Given the description of an element on the screen output the (x, y) to click on. 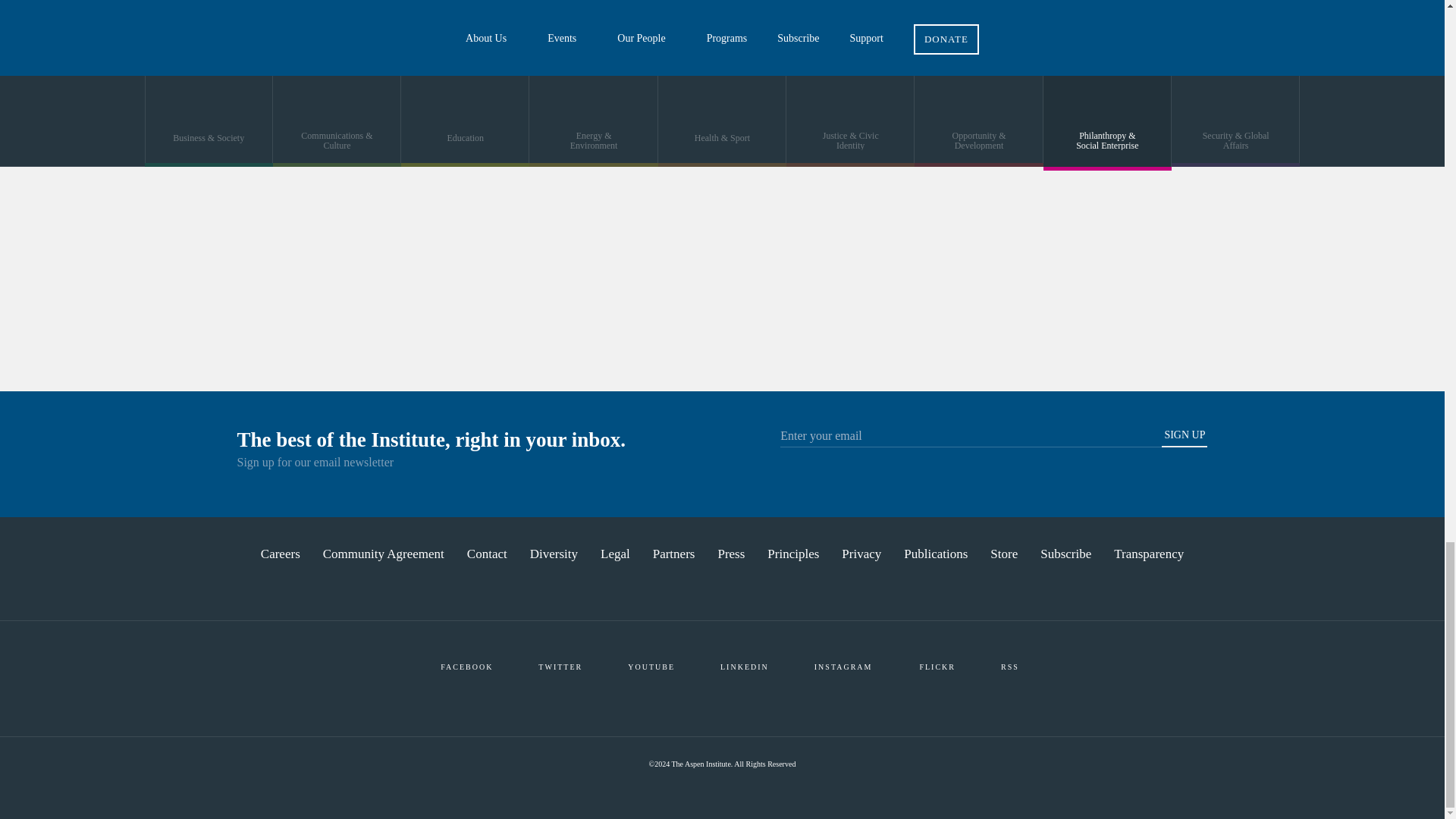
SIGN UP (1184, 438)
